Given the description of an element on the screen output the (x, y) to click on. 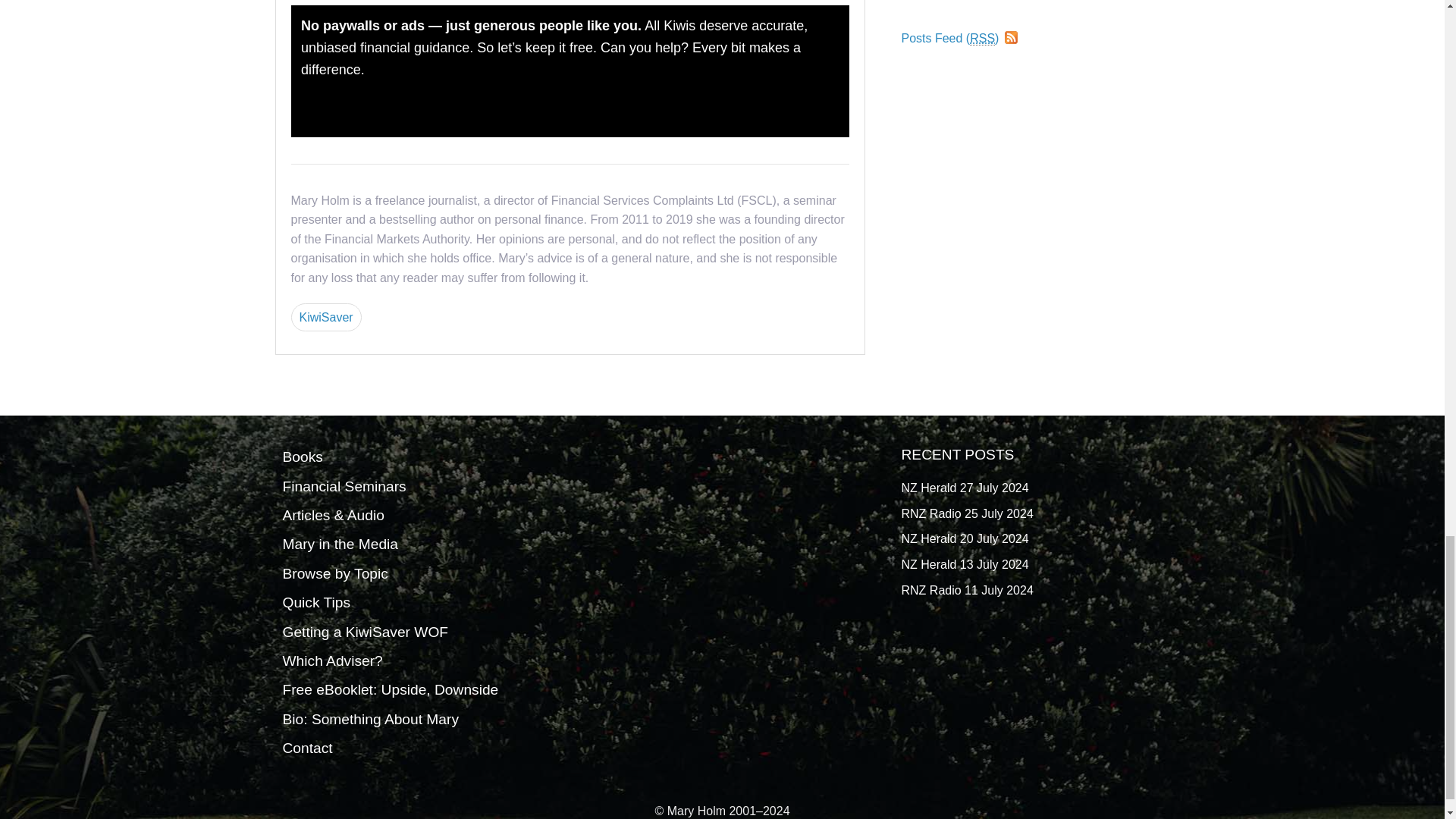
KiwiSaver (326, 317)
